Given the description of an element on the screen output the (x, y) to click on. 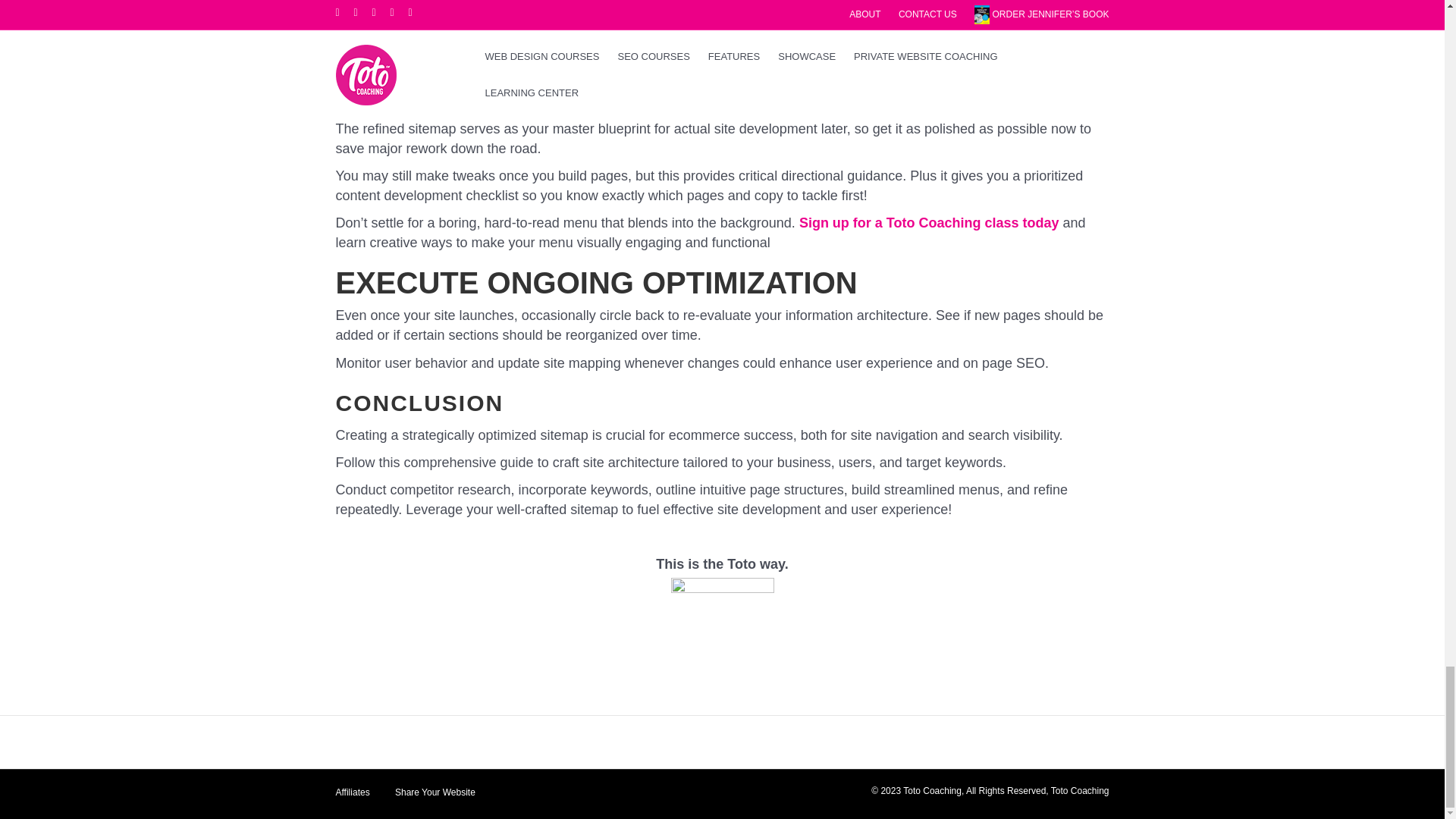
Share Your Website (435, 797)
Sign up for a Toto Coaching class today (929, 222)
Affiliates (352, 797)
